Given the description of an element on the screen output the (x, y) to click on. 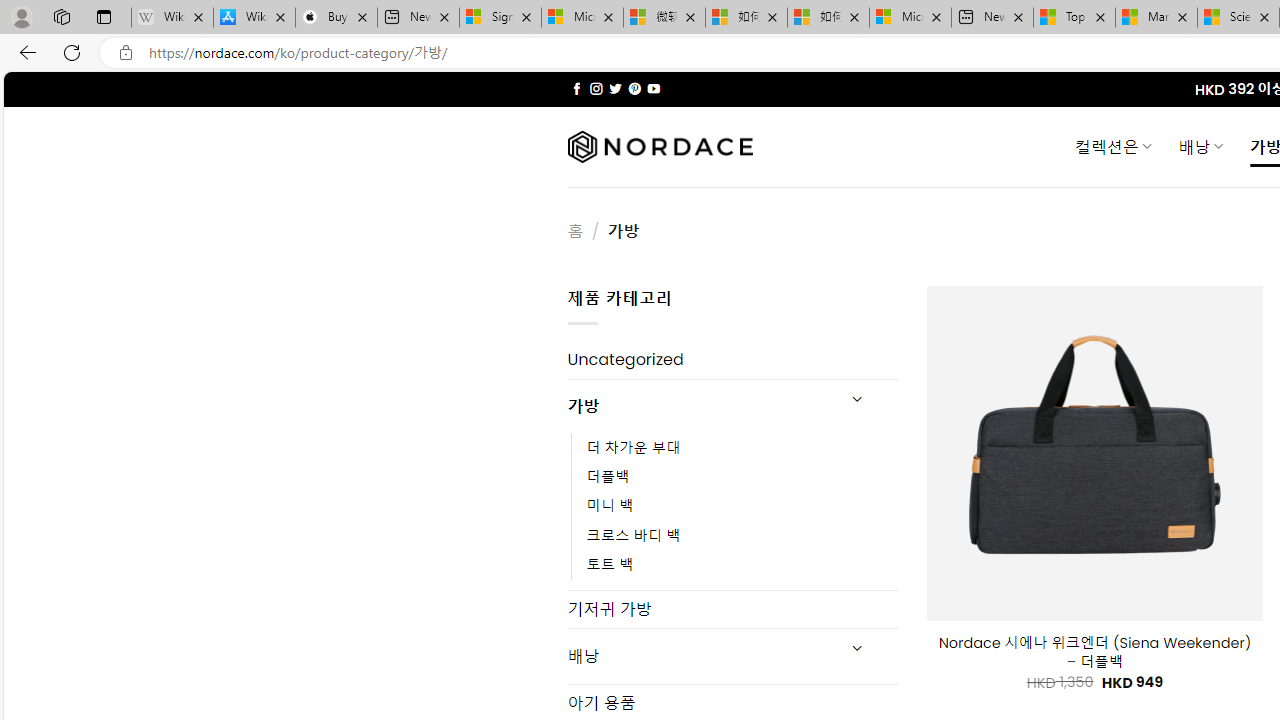
Buy iPad - Apple (336, 17)
Follow on YouTube (653, 88)
Uncategorized (732, 359)
